Given the description of an element on the screen output the (x, y) to click on. 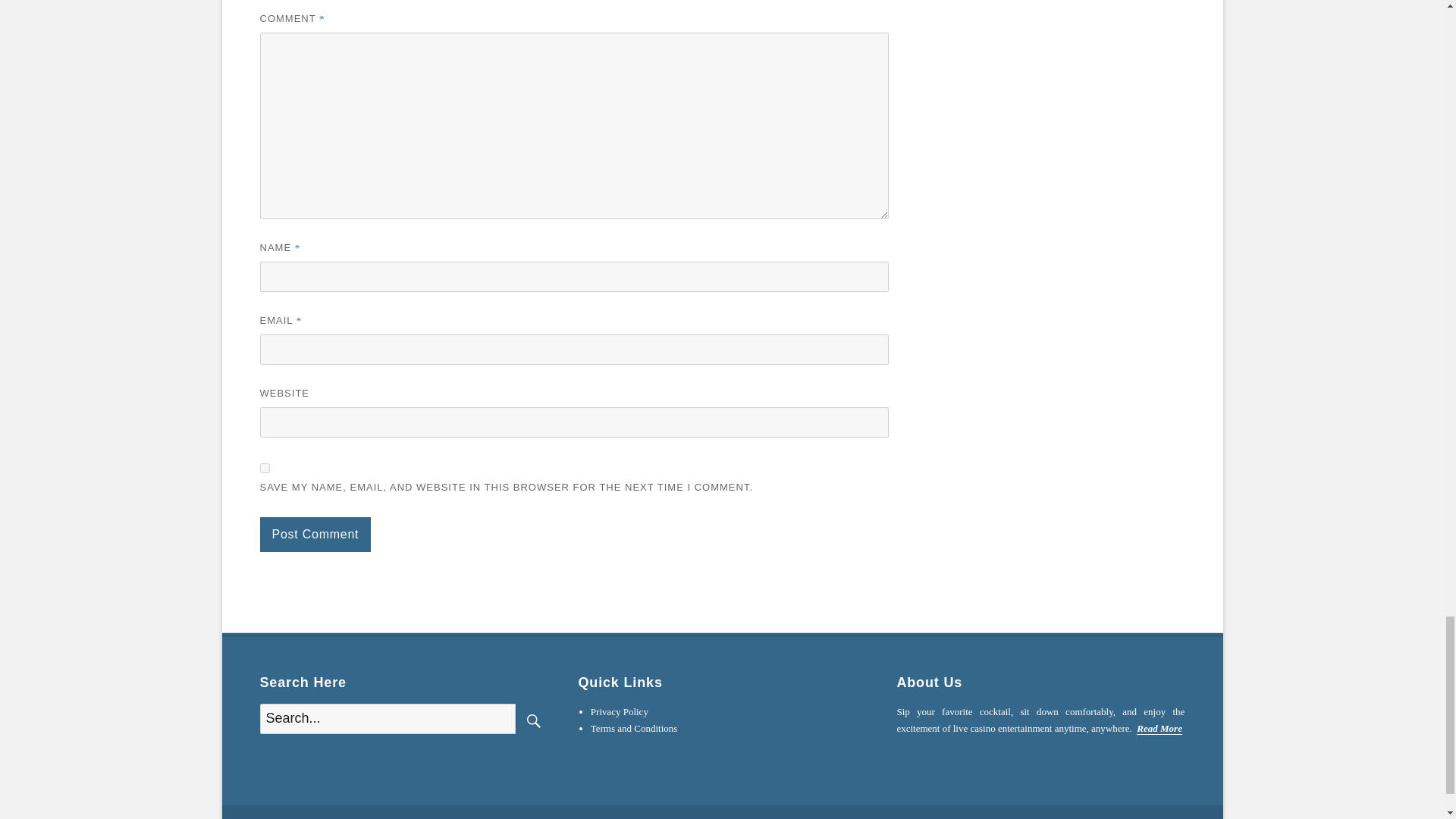
Post Comment (315, 534)
Privacy Policy (619, 711)
Search for: (387, 718)
yes (264, 468)
Post Comment (315, 534)
Read More (1159, 727)
Terms and Conditions (634, 727)
